Given the description of an element on the screen output the (x, y) to click on. 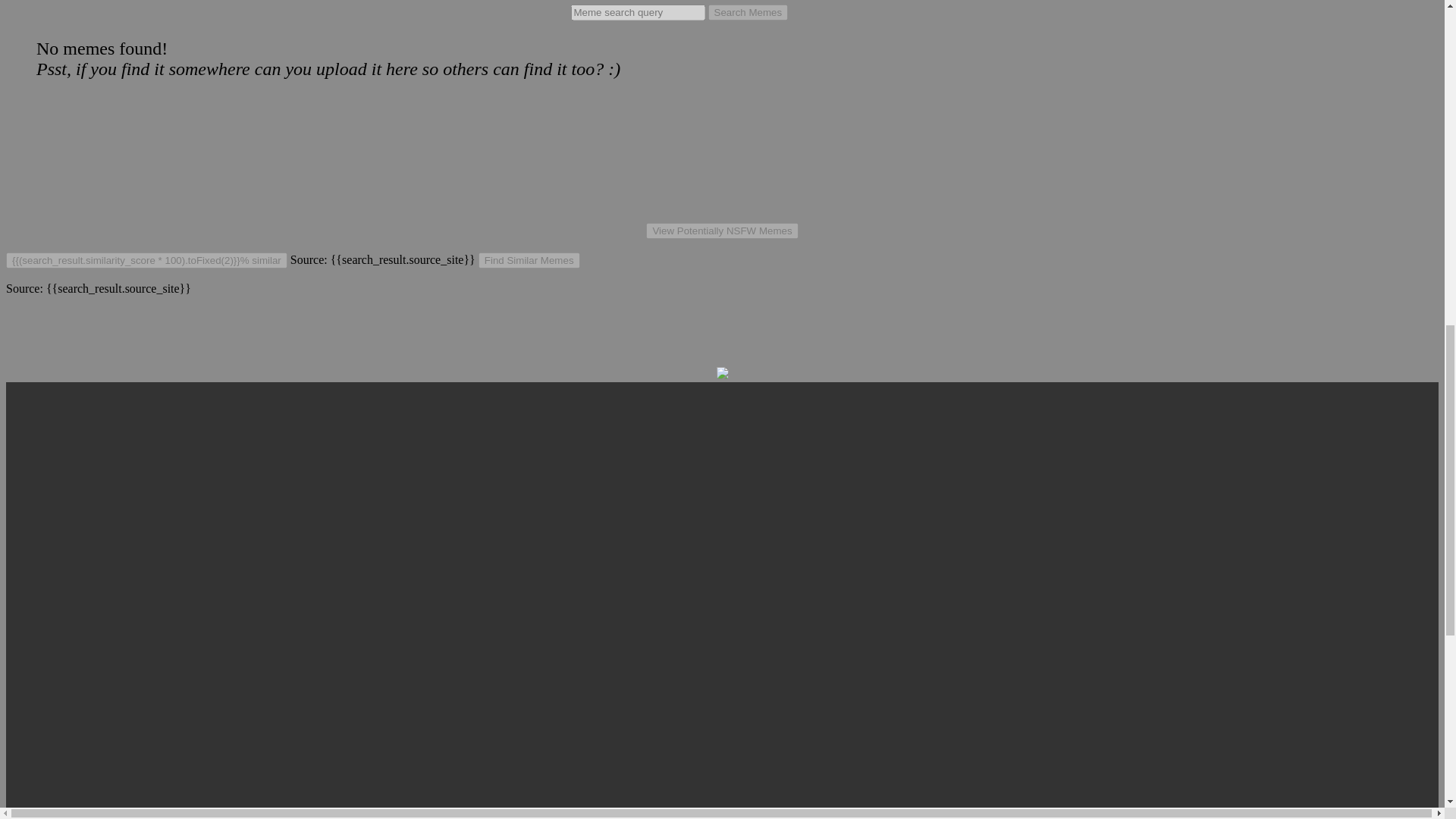
Search Memes (748, 12)
View Potentially NSFW Memes (721, 230)
Find Similar Memes (529, 260)
